Given the description of an element on the screen output the (x, y) to click on. 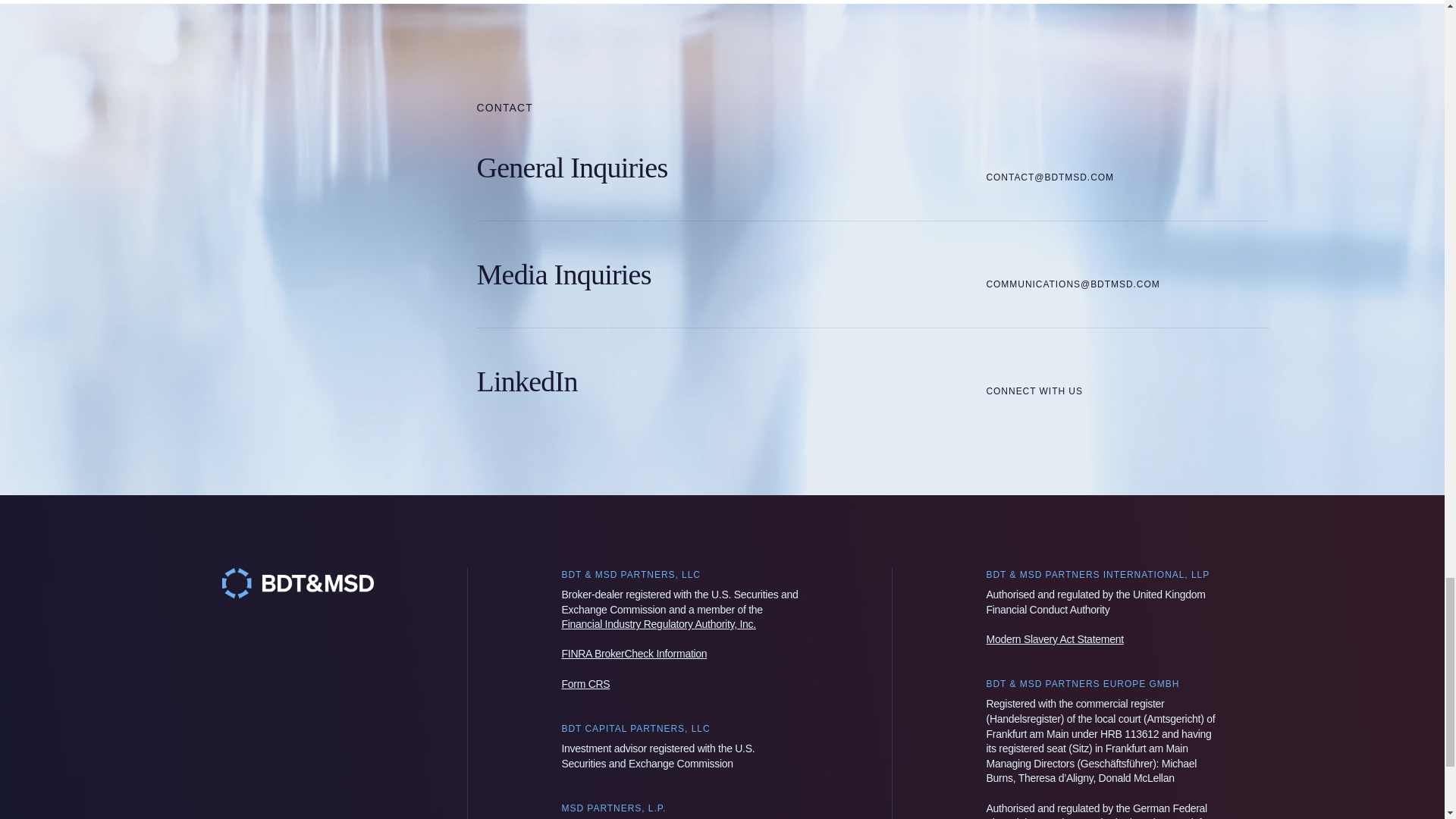
Form CRS (585, 684)
FINRA BrokerCheck Information (633, 653)
Financial Industry Regulatory Authority, Inc. (657, 623)
Modern Slavery Act Statement (1053, 639)
CONNECT WITH US (1034, 381)
